Given the description of an element on the screen output the (x, y) to click on. 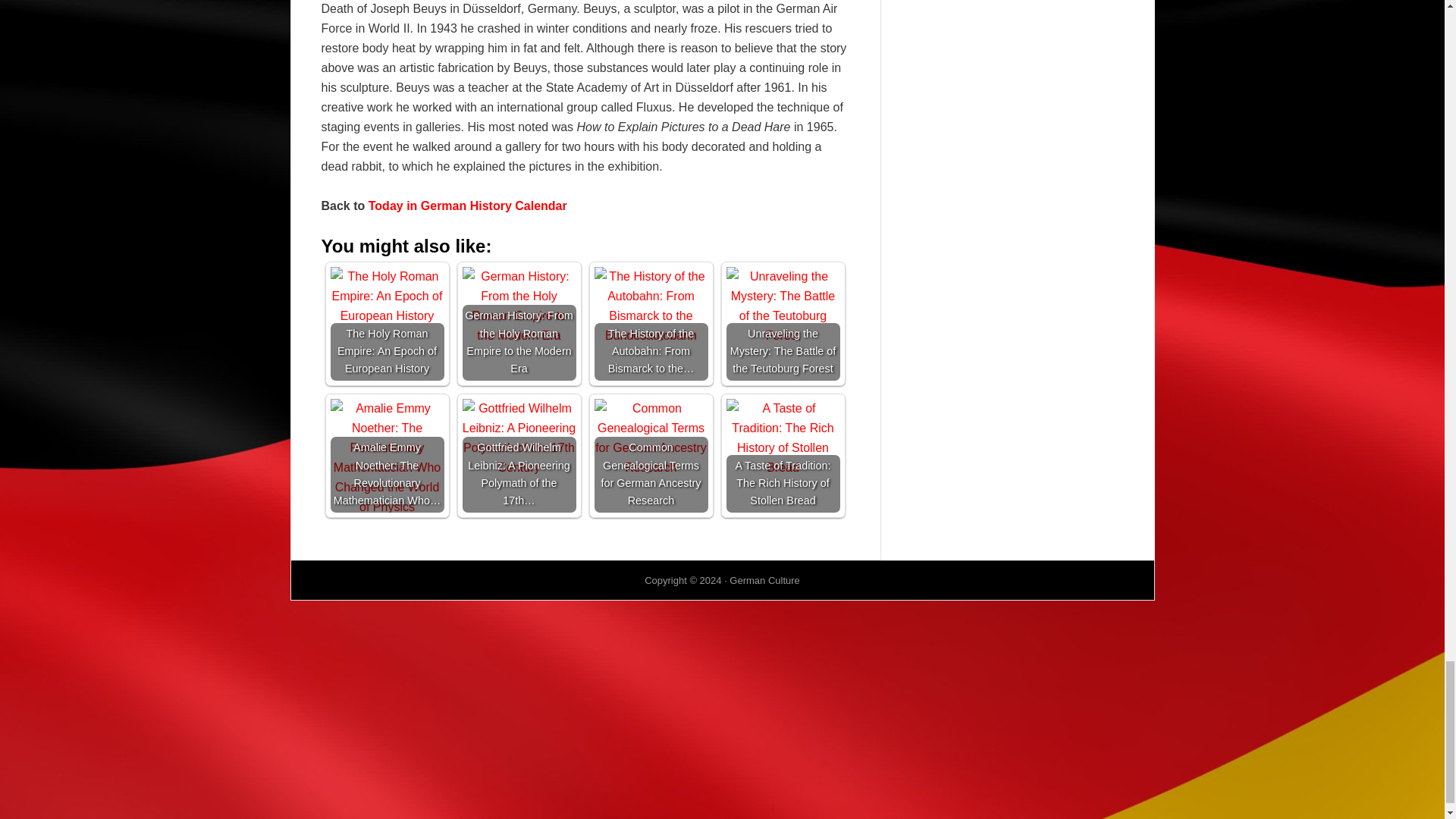
The Holy Roman Empire: An Epoch of European History (387, 323)
Unraveling the Mystery: The Battle of the Teutoburg Forest (783, 305)
Unraveling the Mystery: The Battle of the Teutoburg Forest (783, 323)
German History: From the Holy Roman Empire to the Modern Era (519, 323)
A Taste of Tradition: The Rich History of Stollen Bread (783, 437)
Common Genealogical Terms for German Ancestry Research (650, 437)
A Taste of Tradition: The Rich History of Stollen Bread (783, 455)
German History: From the Holy Roman Empire to the Modern Era (519, 305)
The Holy Roman Empire: An Epoch of European History (387, 295)
Common Genealogical Terms for German Ancestry Research (650, 455)
Today in German History Calendar (467, 205)
